Given the description of an element on the screen output the (x, y) to click on. 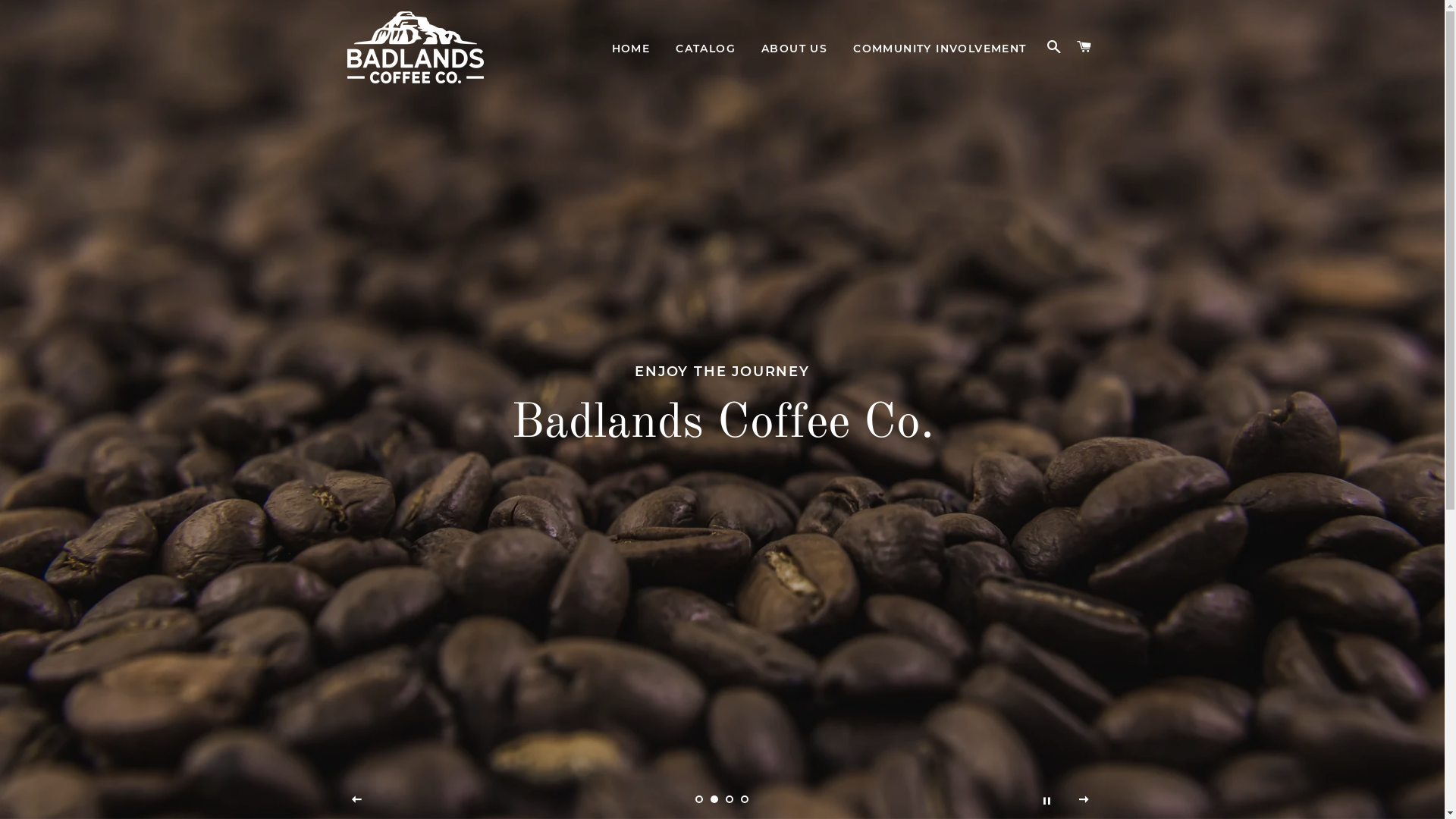
COMMUNITY INVOLVEMENT Element type: text (939, 49)
ABOUT US Element type: text (793, 49)
CART Element type: text (1083, 46)
SEARCH Element type: text (1054, 46)
CATALOG Element type: text (705, 49)
HOME Element type: text (631, 49)
